Given the description of an element on the screen output the (x, y) to click on. 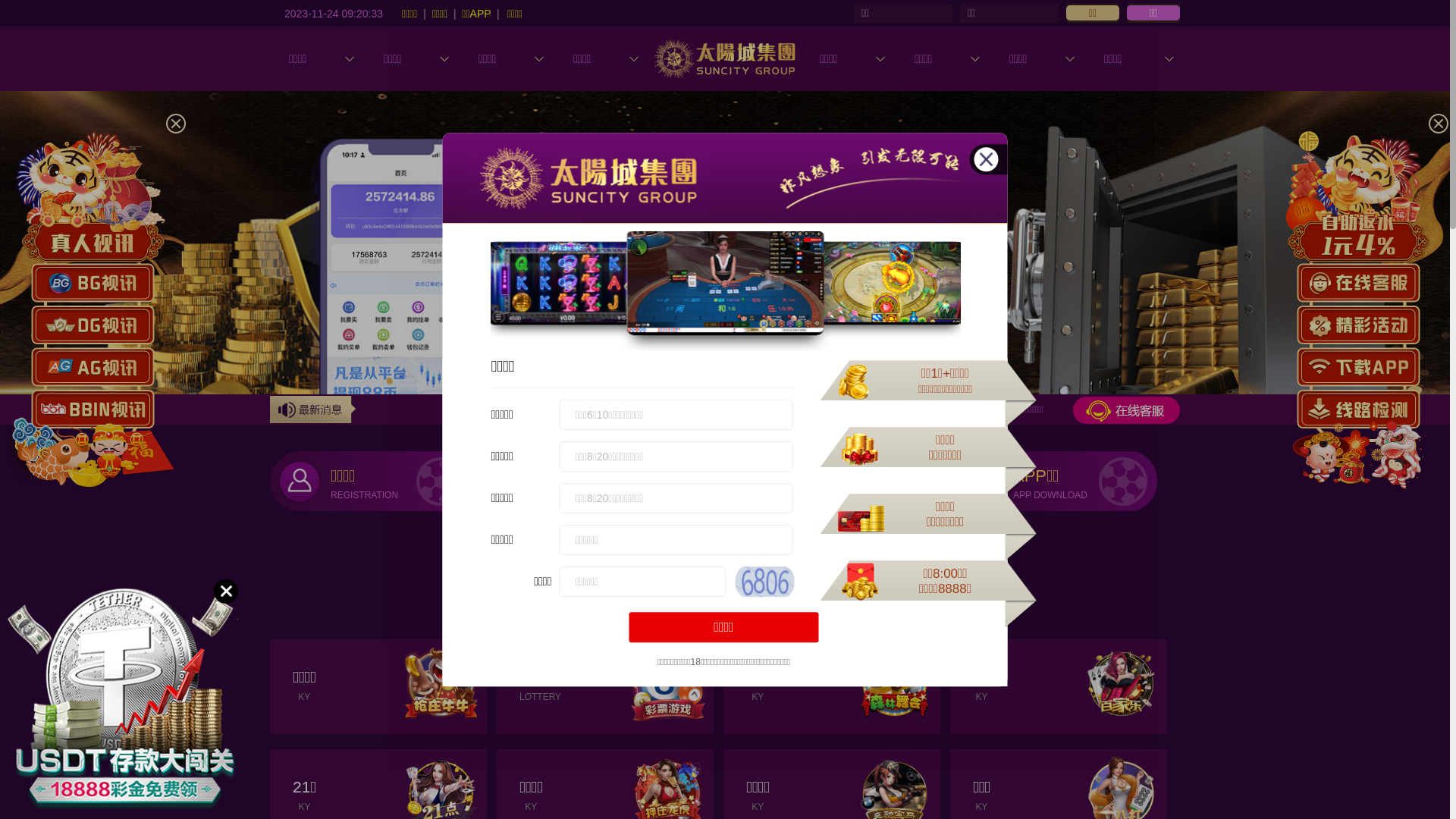
2023-11-24 09:20:31 Element type: text (333, 12)
